Given the description of an element on the screen output the (x, y) to click on. 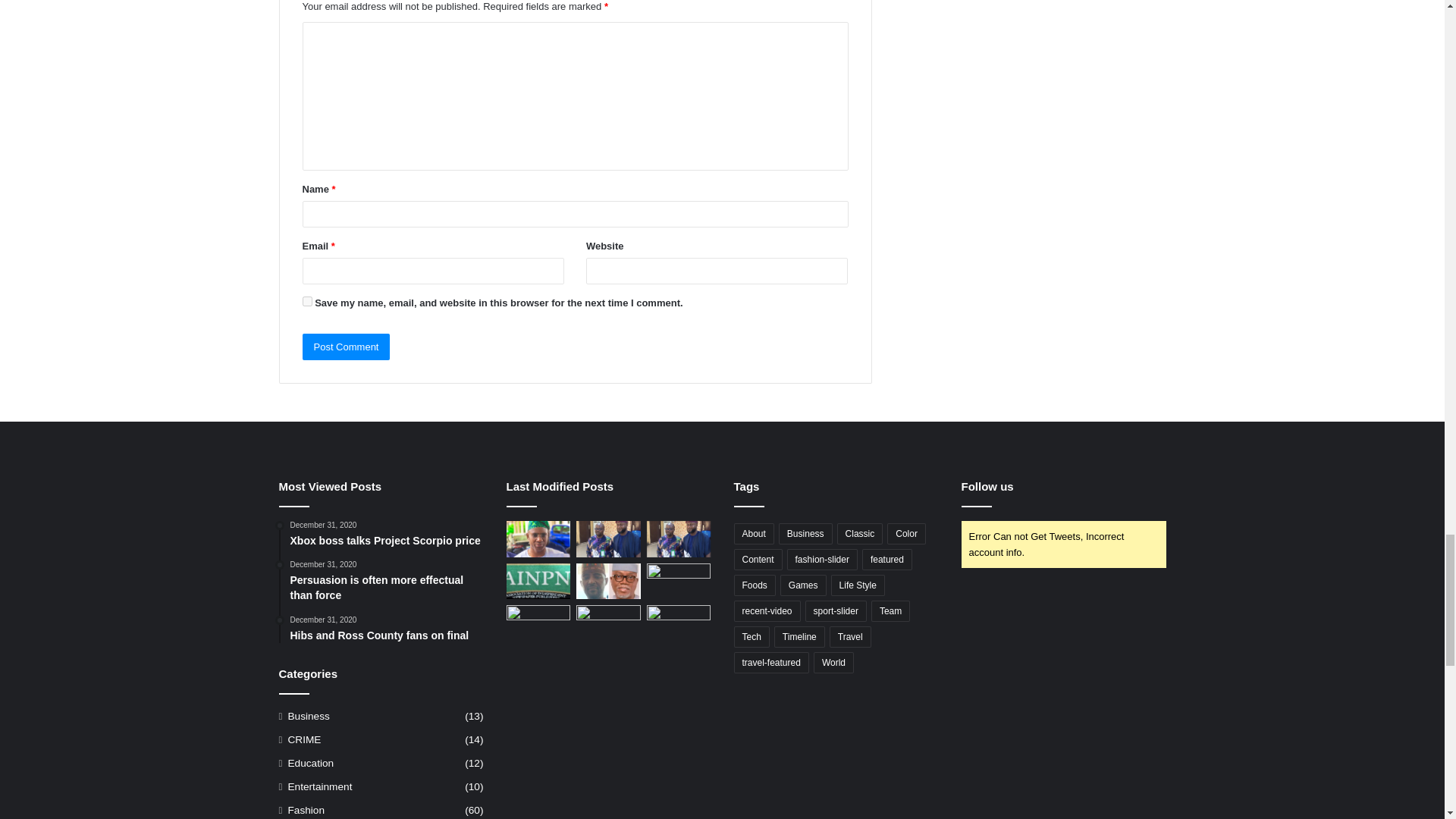
Post Comment (345, 346)
yes (306, 301)
